Given the description of an element on the screen output the (x, y) to click on. 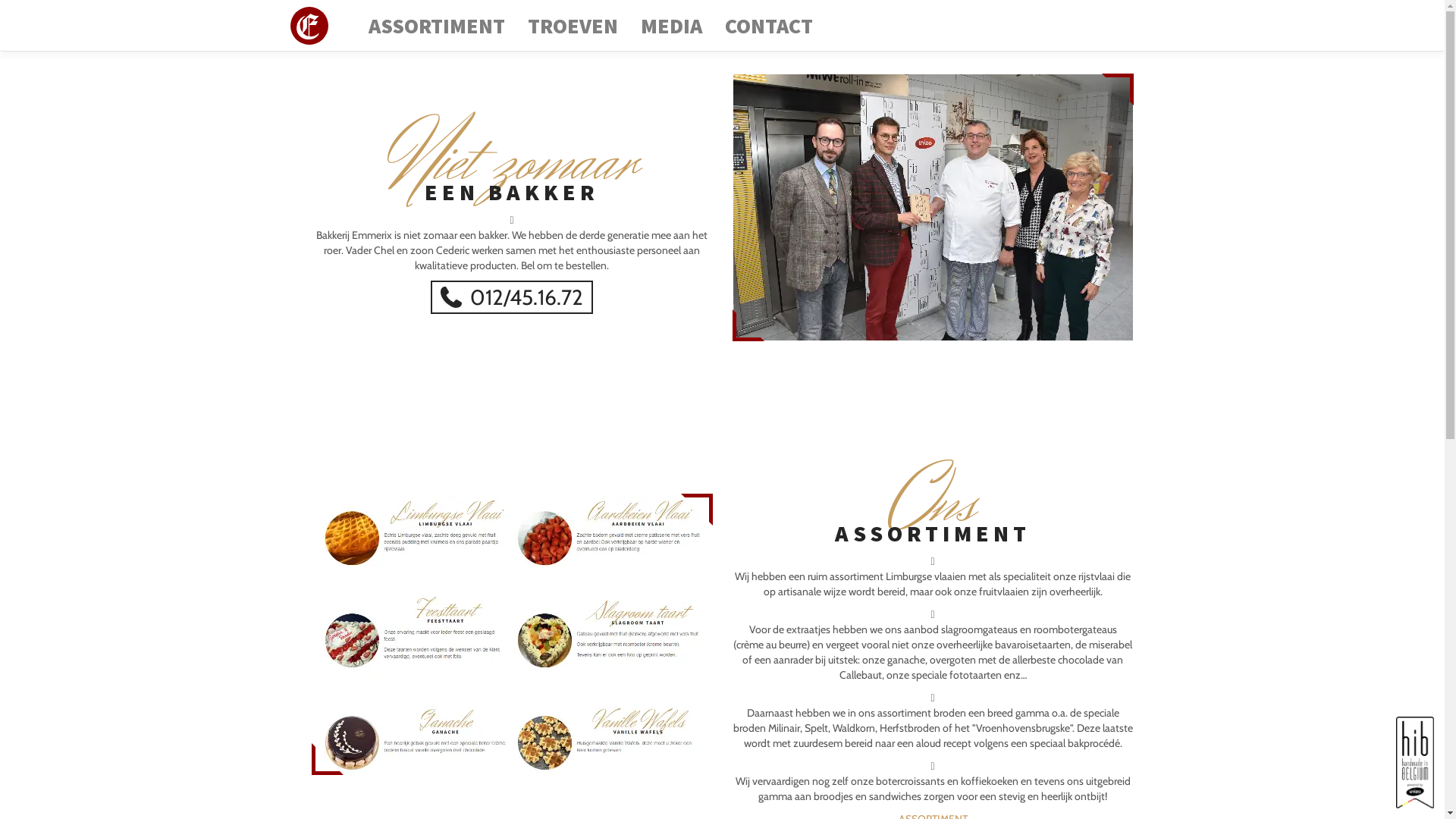
MEDIA Element type: text (671, 25)
CONTACT Element type: text (768, 25)
012/45.16.72 Element type: text (511, 296)
E Element type: text (308, 25)
TROEVEN Element type: text (572, 25)
ASSORTIMENT Element type: text (436, 25)
